Given the description of an element on the screen output the (x, y) to click on. 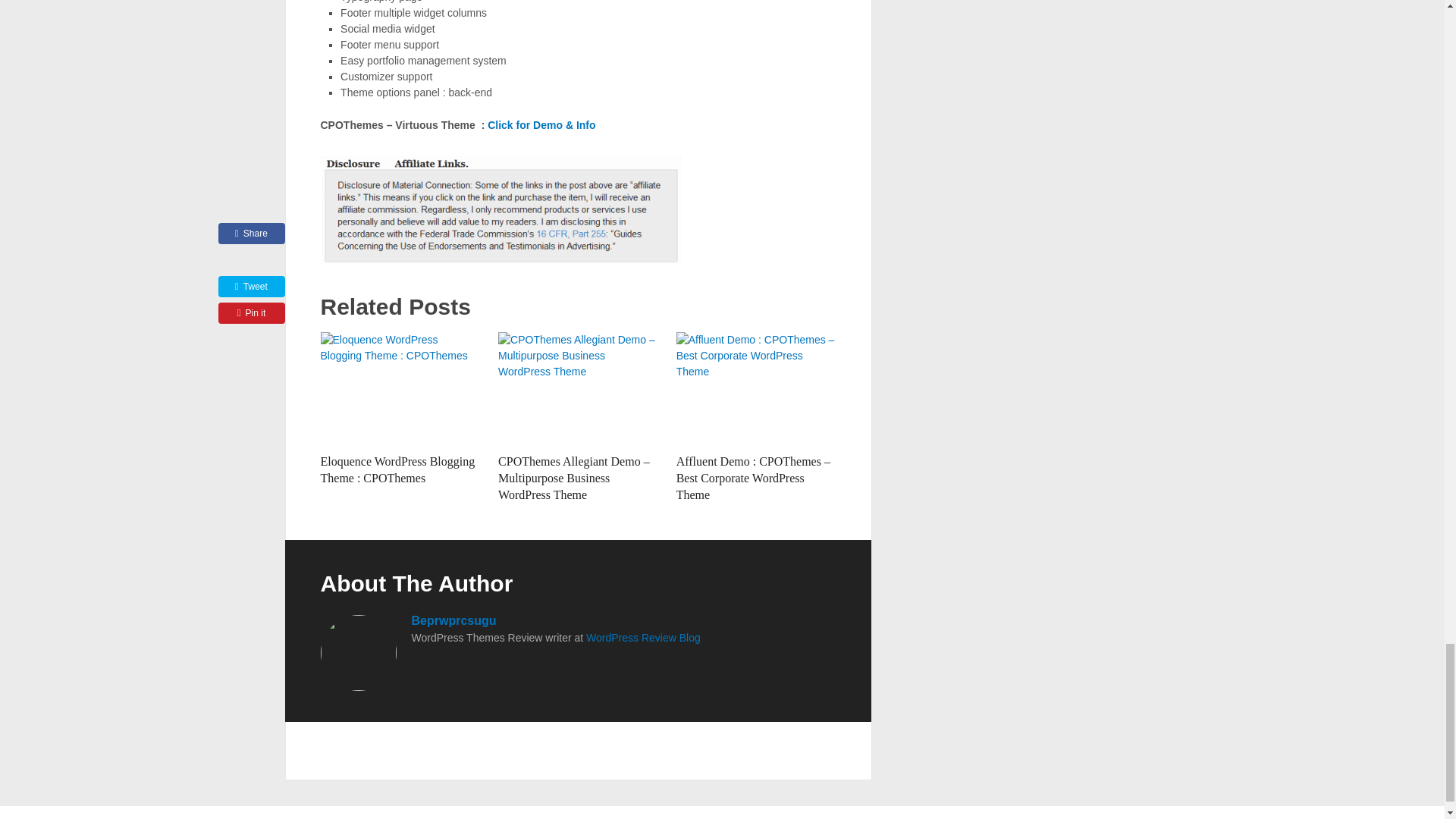
Eloquence WordPress Blogging Theme : CPOThemes (400, 388)
Eloquence WordPress Blogging Theme : CPOThemes (397, 469)
